Given the description of an element on the screen output the (x, y) to click on. 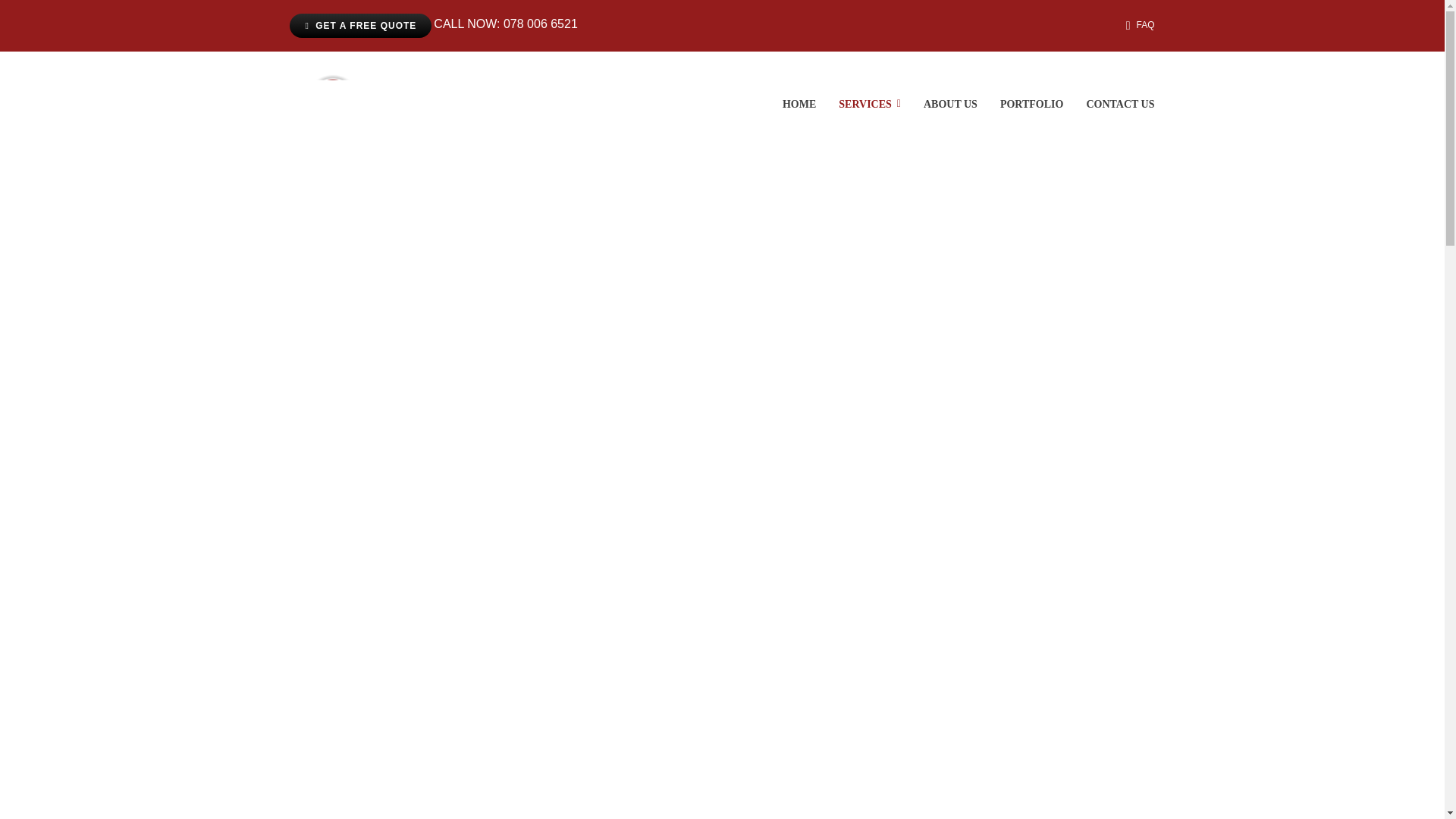
ABOUT US (949, 103)
SERVICES (869, 103)
PORTFOLIO (1032, 103)
CALL NOW: 078 006 6521 (504, 25)
FAQ (1136, 25)
GET A FREE QUOTE (359, 25)
CONTACT US (1120, 103)
